Given the description of an element on the screen output the (x, y) to click on. 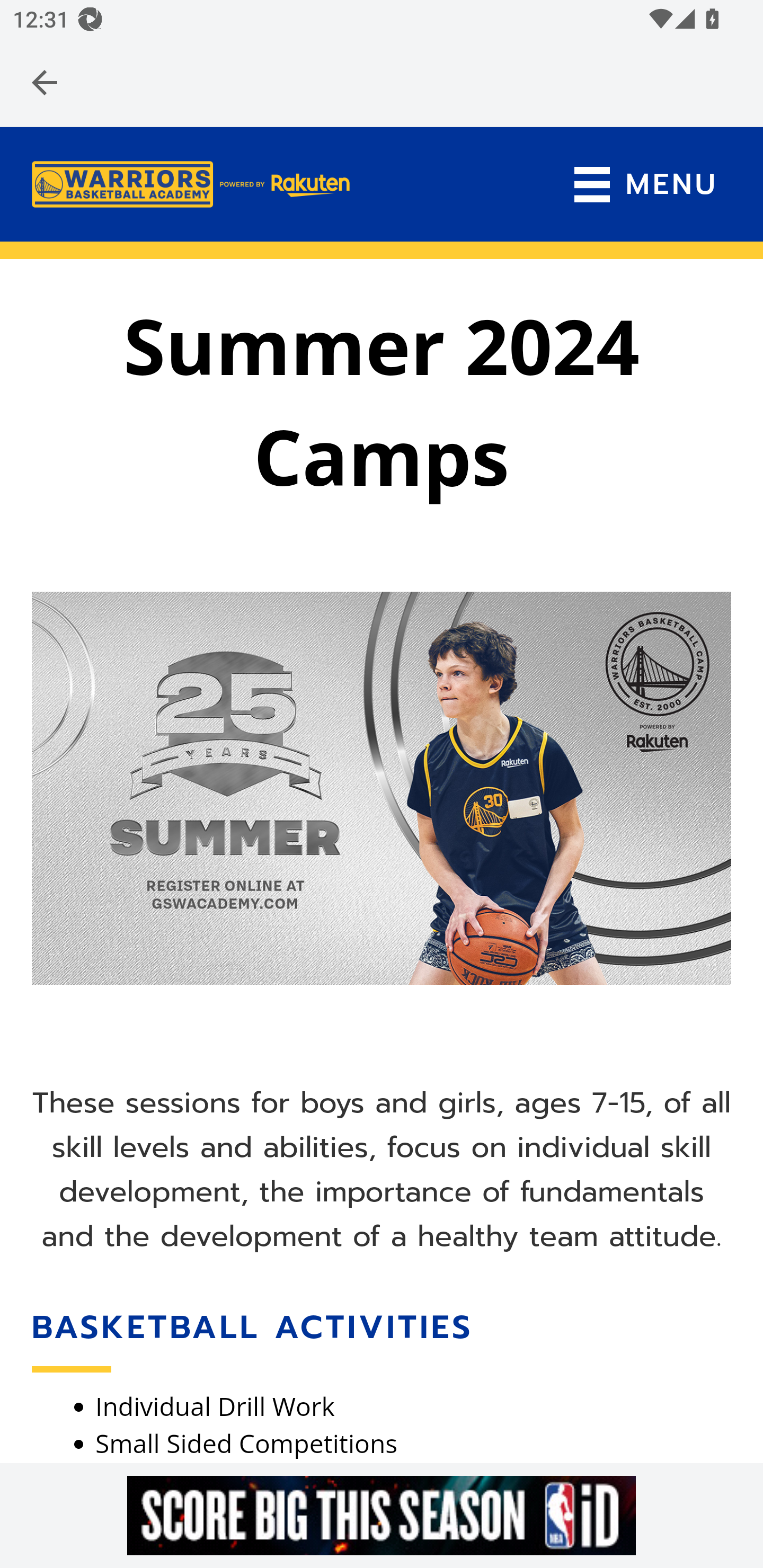
Navigate up (44, 82)
uabb-menu-toggleMENU (645, 184)
WBA_Horizontal_Full_Color_Yellow (190, 183)
